Given the description of an element on the screen output the (x, y) to click on. 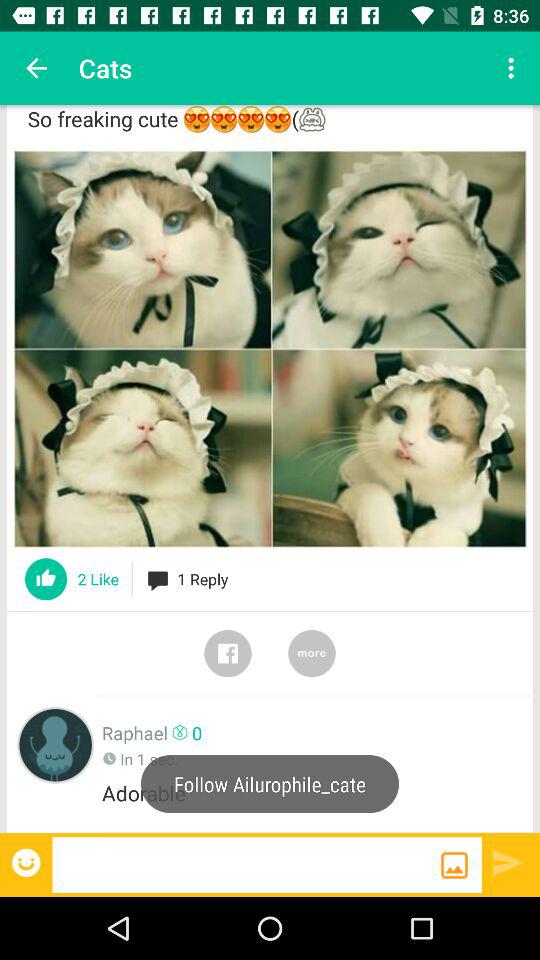
see user profile (55, 744)
